Given the description of an element on the screen output the (x, y) to click on. 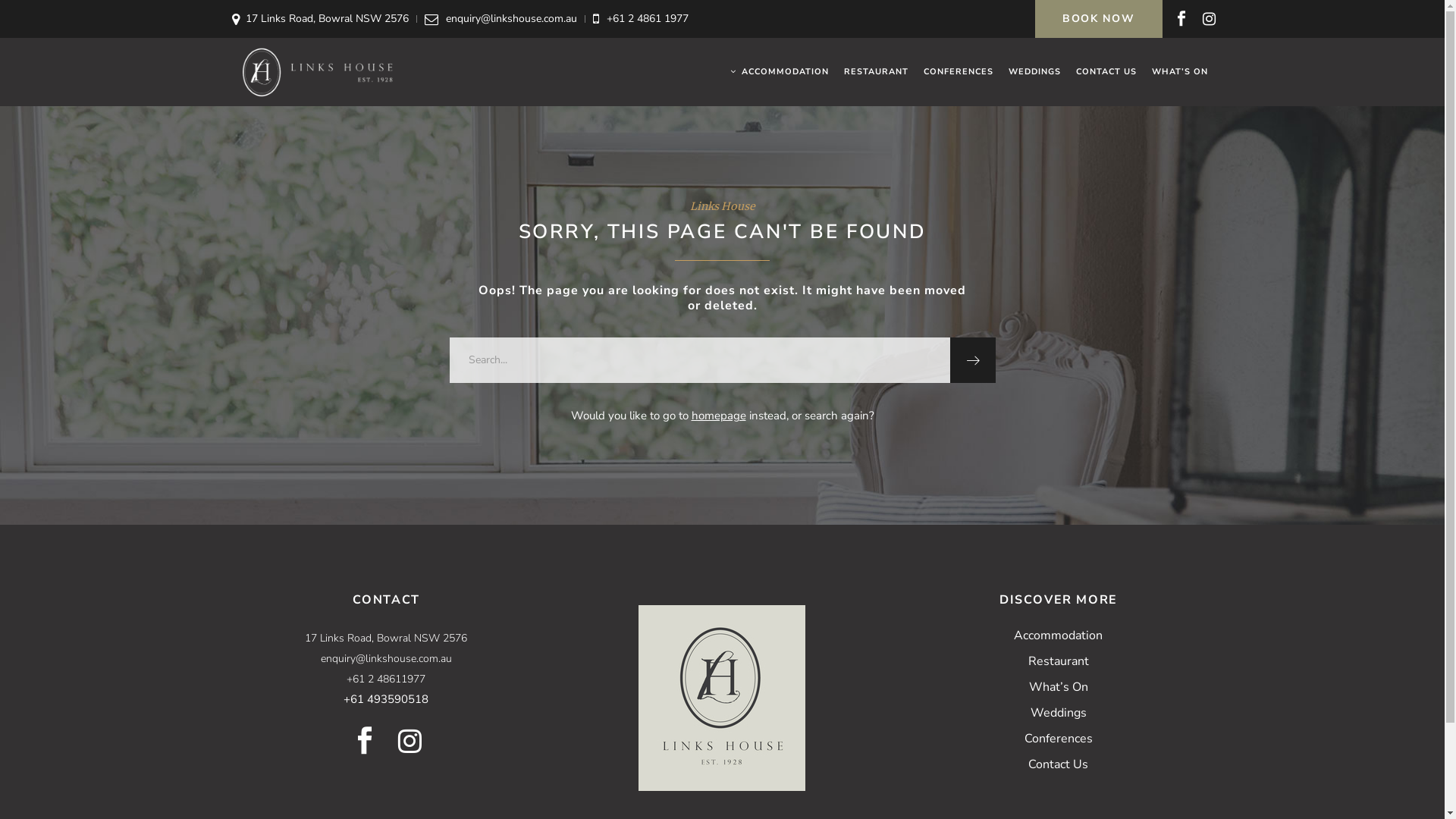
+61 2 48611977 Element type: text (385, 678)
+61 493590518 Element type: text (385, 698)
enquiry@linkshouse.com.au Element type: text (511, 18)
+61 2 4861 1977 Element type: text (647, 18)
enquiry@linkshouse.com.au Element type: text (385, 658)
Search for: Element type: hover (698, 359)
CONFERENCES Element type: text (958, 71)
BOOK NOW Element type: text (1098, 18)
Contact Us Element type: text (1058, 764)
Accommodation Element type: text (1057, 635)
RESTAURANT Element type: text (875, 71)
Weddings Element type: text (1058, 712)
ACCOMMODATION Element type: text (778, 71)
homepage Element type: text (718, 415)
CONTACT US Element type: text (1105, 71)
Conferences Element type: text (1058, 738)
WEDDINGS Element type: text (1034, 71)
Restaurant Element type: text (1058, 660)
